Given the description of an element on the screen output the (x, y) to click on. 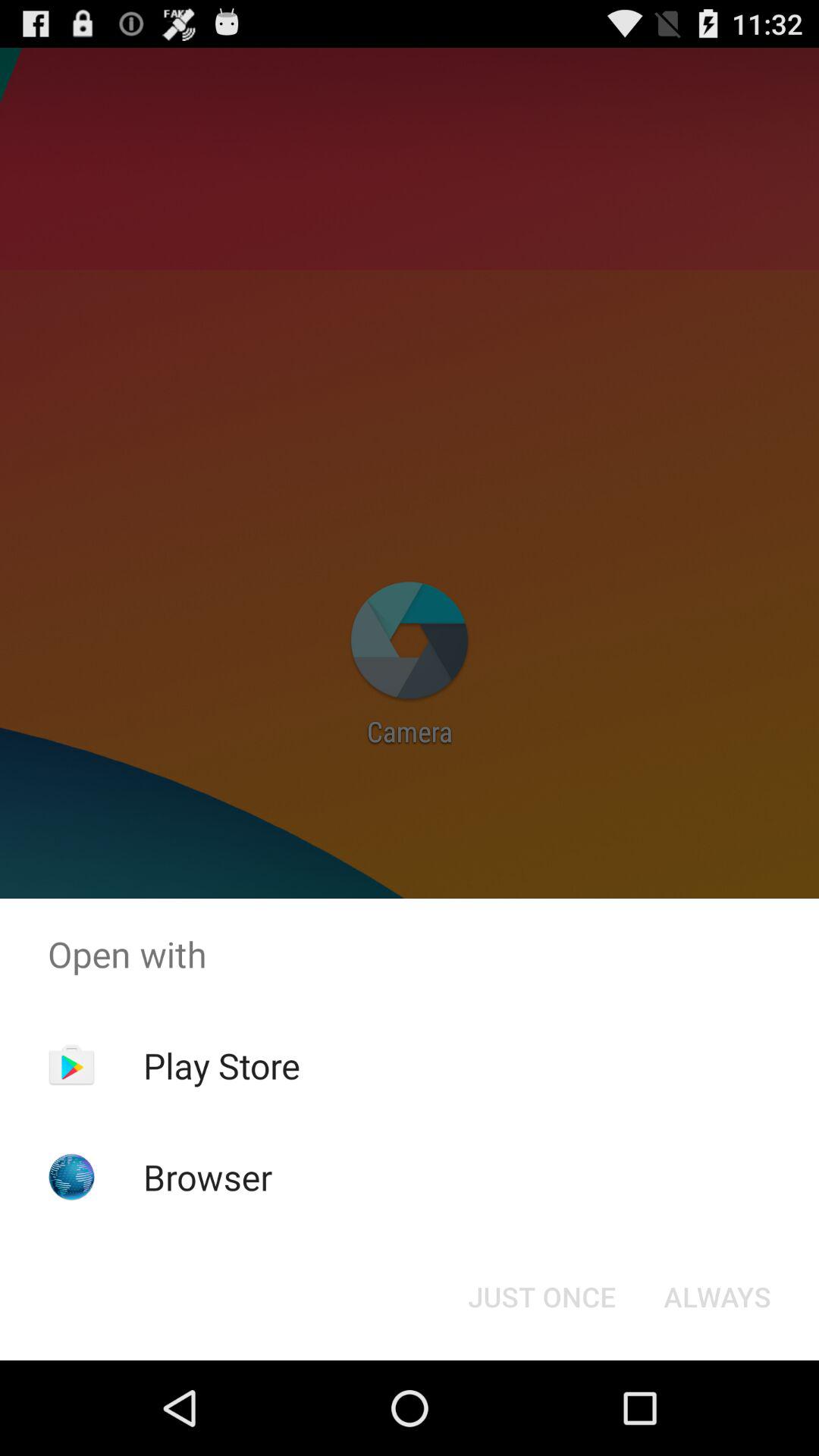
select icon below open with icon (717, 1296)
